Given the description of an element on the screen output the (x, y) to click on. 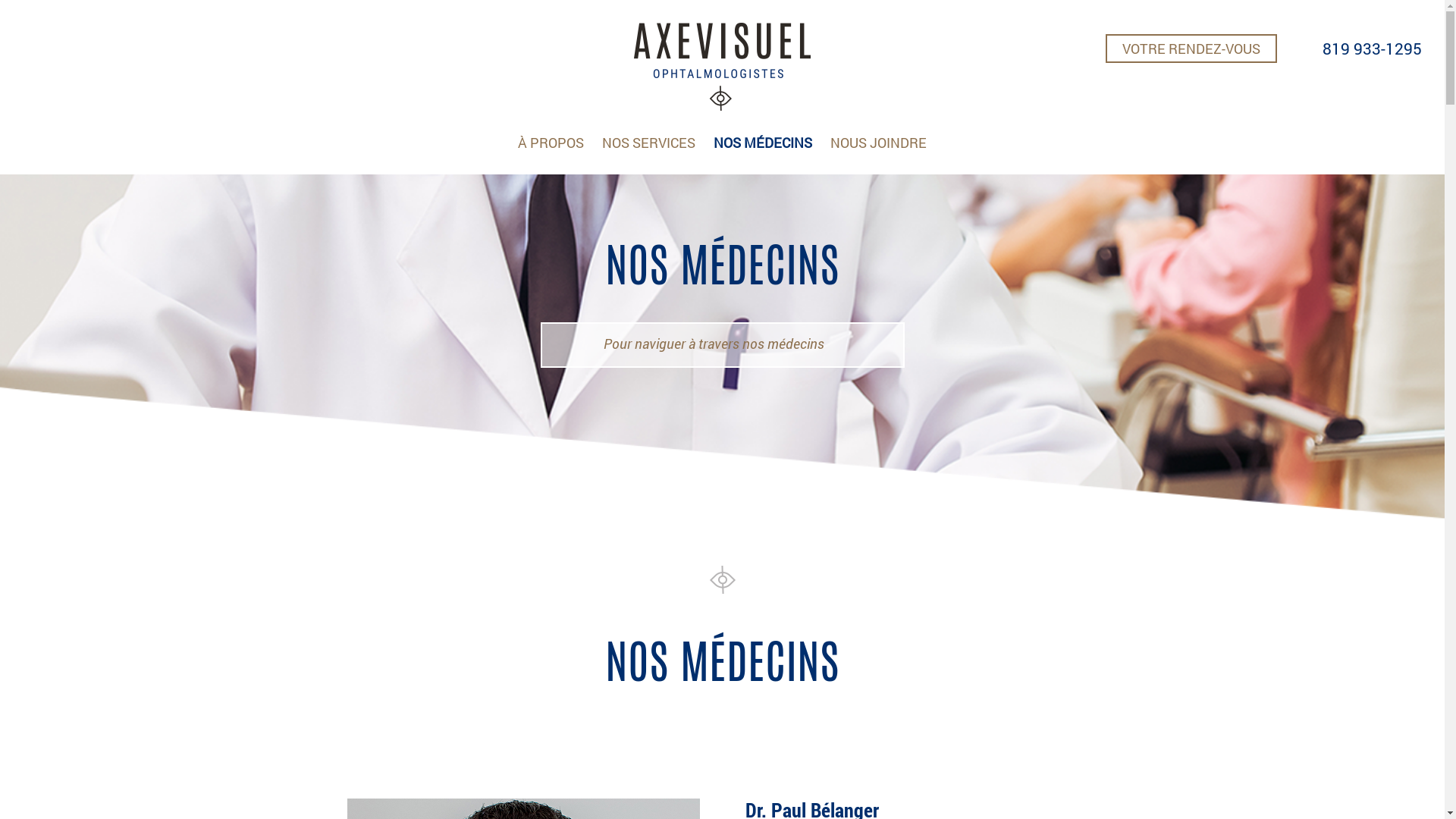
NOUS JOINDRE Element type: text (878, 142)
NOS SERVICES Element type: text (648, 142)
VOTRE RENDEZ-VOUS Element type: text (1190, 48)
